Given the description of an element on the screen output the (x, y) to click on. 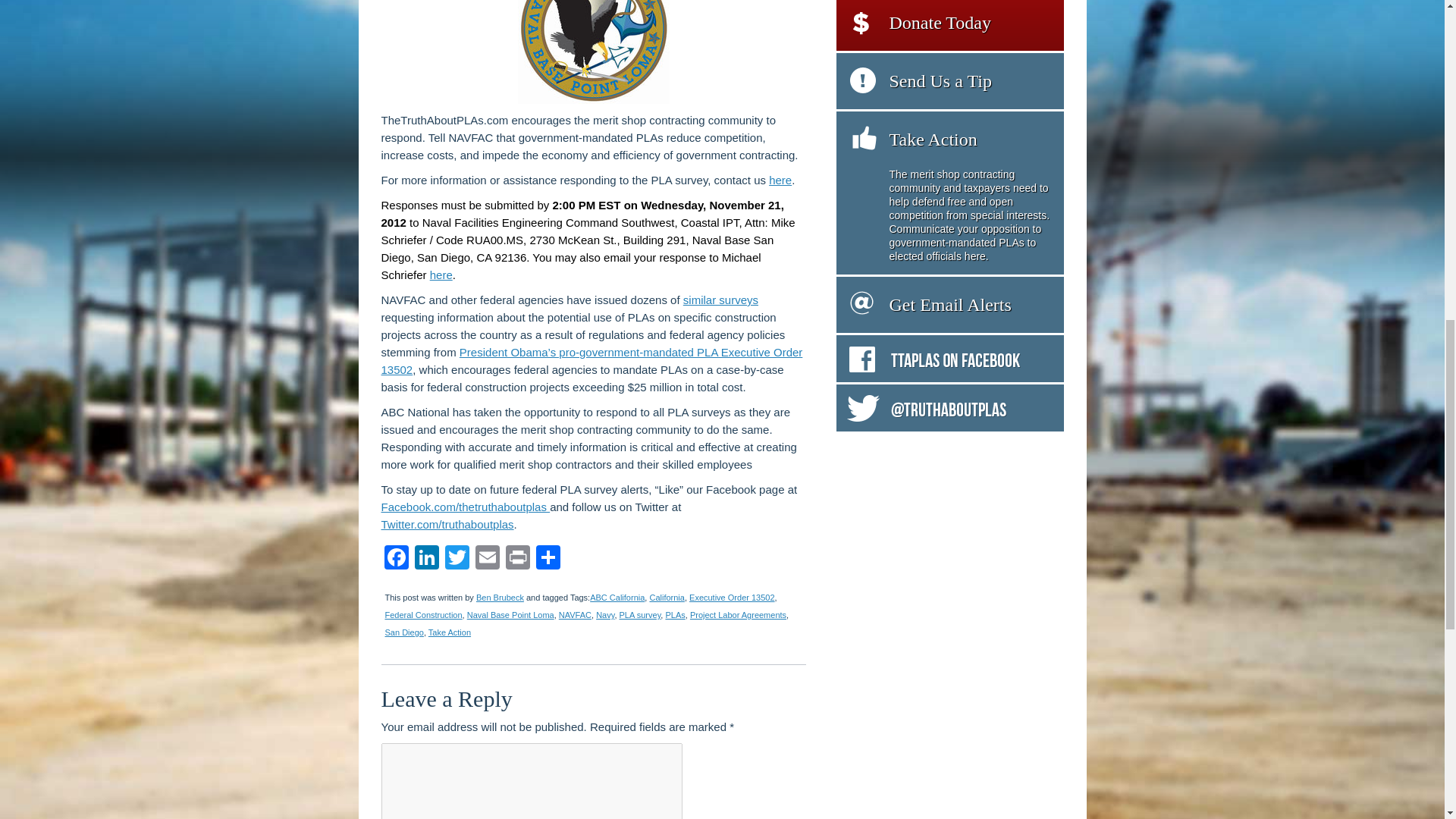
similar surveys (720, 299)
Print (517, 559)
Facebook (395, 559)
LinkedIn (425, 559)
Facebook (395, 559)
here (780, 179)
Email (486, 559)
Twitter (456, 559)
here (440, 274)
Posts by Ben Brubeck (500, 596)
